Given the description of an element on the screen output the (x, y) to click on. 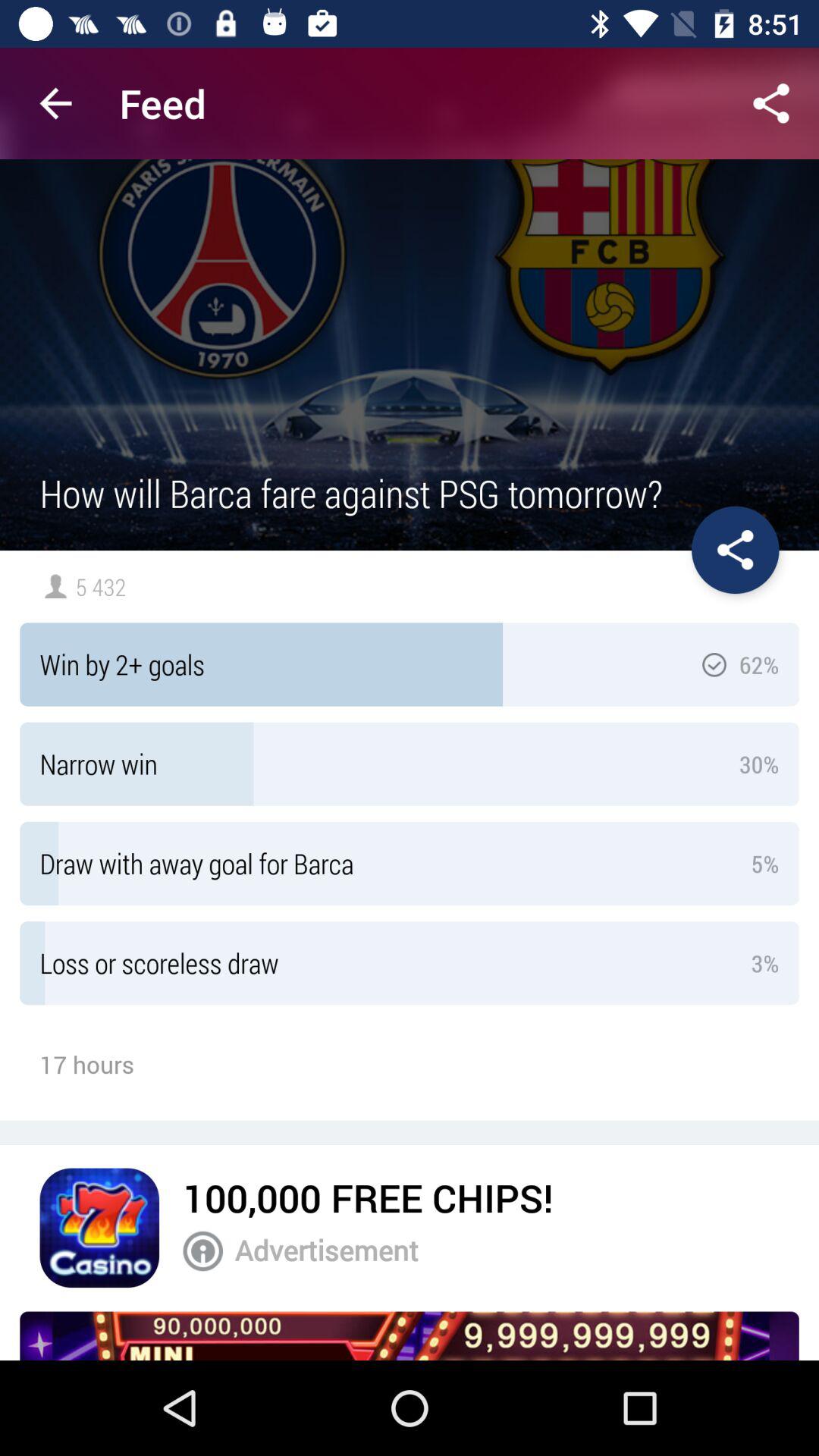
view information about advertisement (202, 1251)
